Given the description of an element on the screen output the (x, y) to click on. 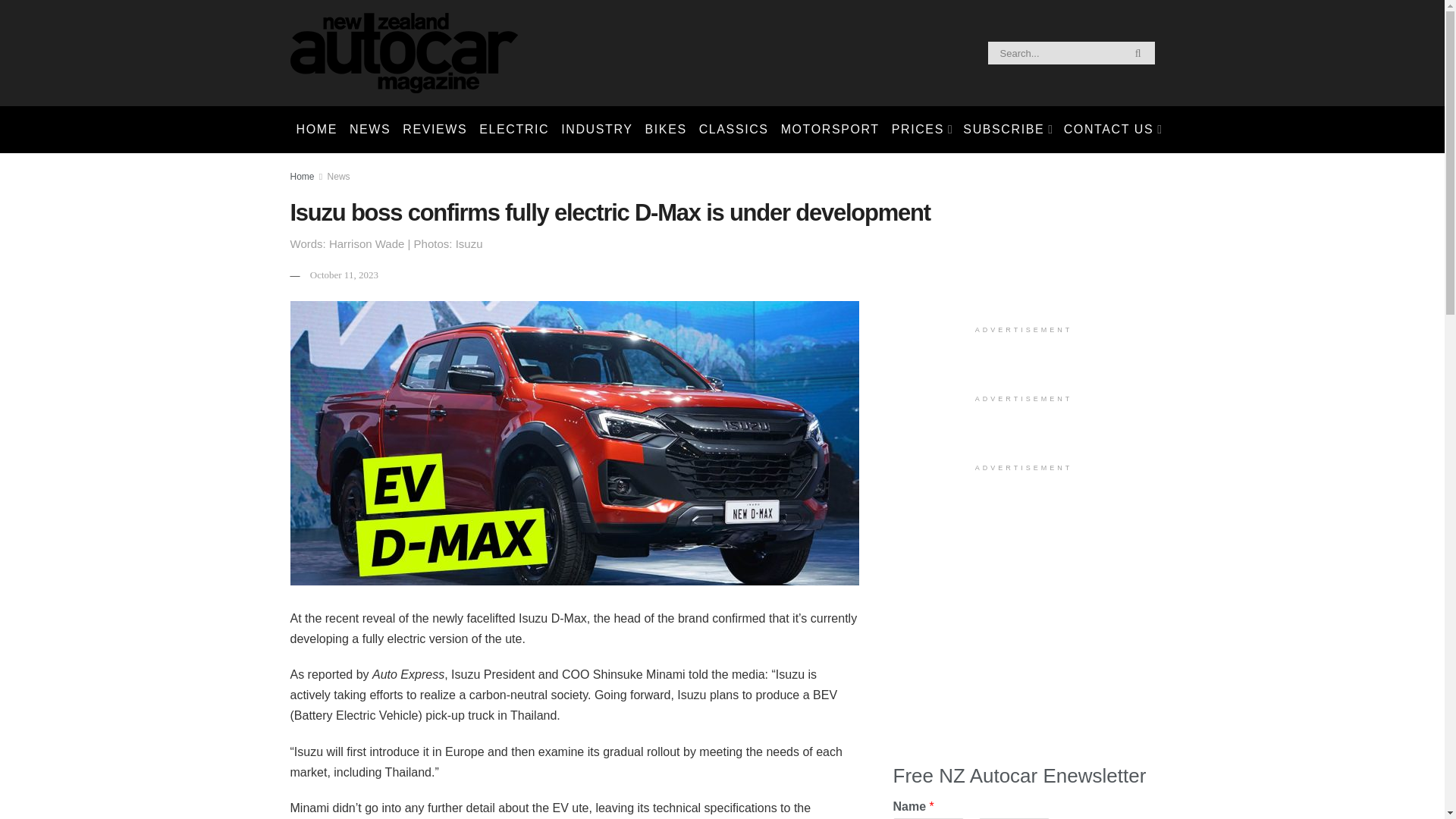
MOTORSPORT (829, 128)
ELECTRIC (513, 128)
BIKES (666, 128)
HOME (315, 128)
REVIEWS (434, 128)
INDUSTRY (596, 128)
NEWS (369, 128)
CLASSICS (733, 128)
PRICES (921, 128)
